Given the description of an element on the screen output the (x, y) to click on. 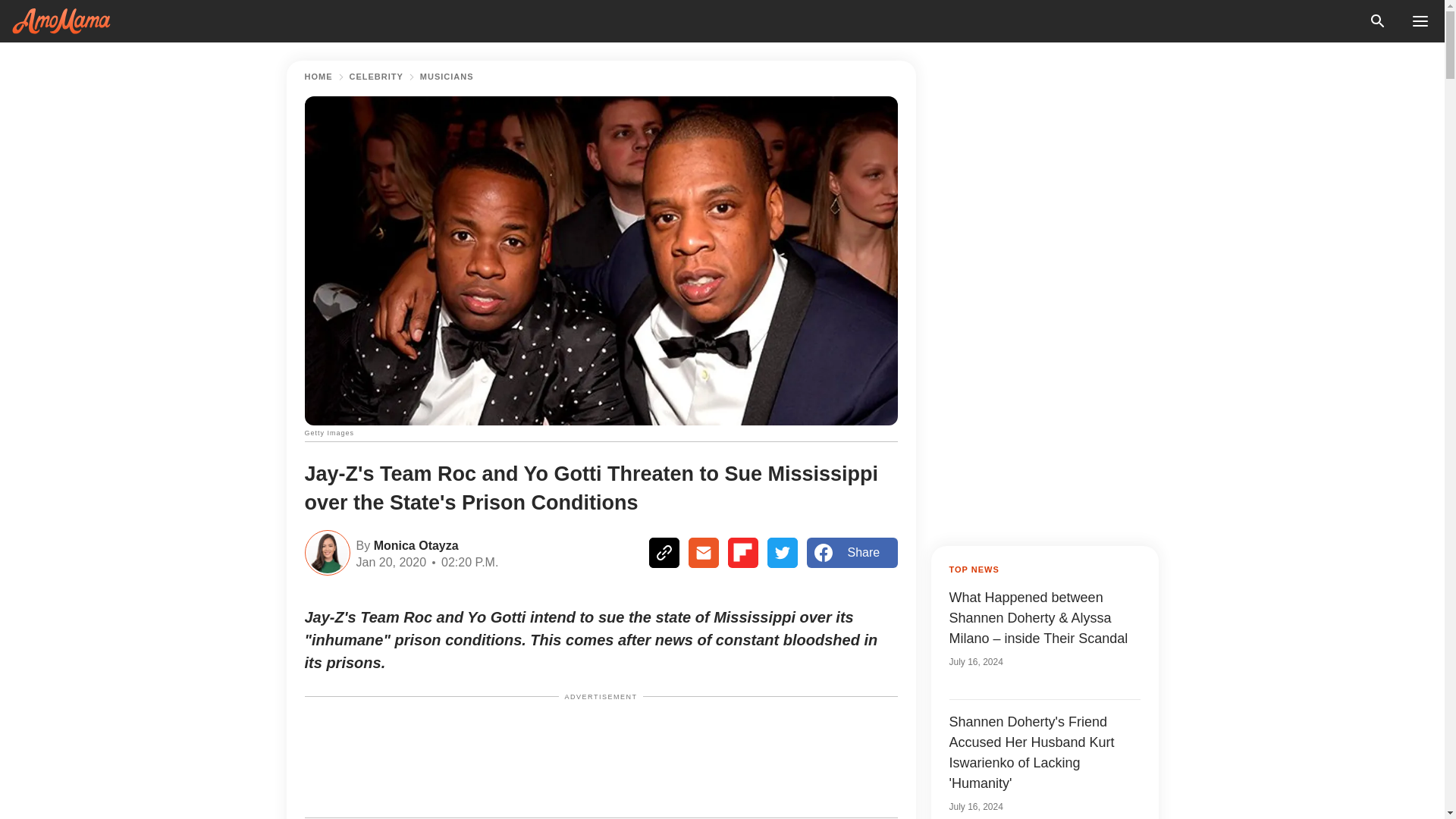
Monica Otayza (413, 544)
HOME (318, 76)
CELEBRITY (376, 76)
MUSICIANS (447, 76)
